Given the description of an element on the screen output the (x, y) to click on. 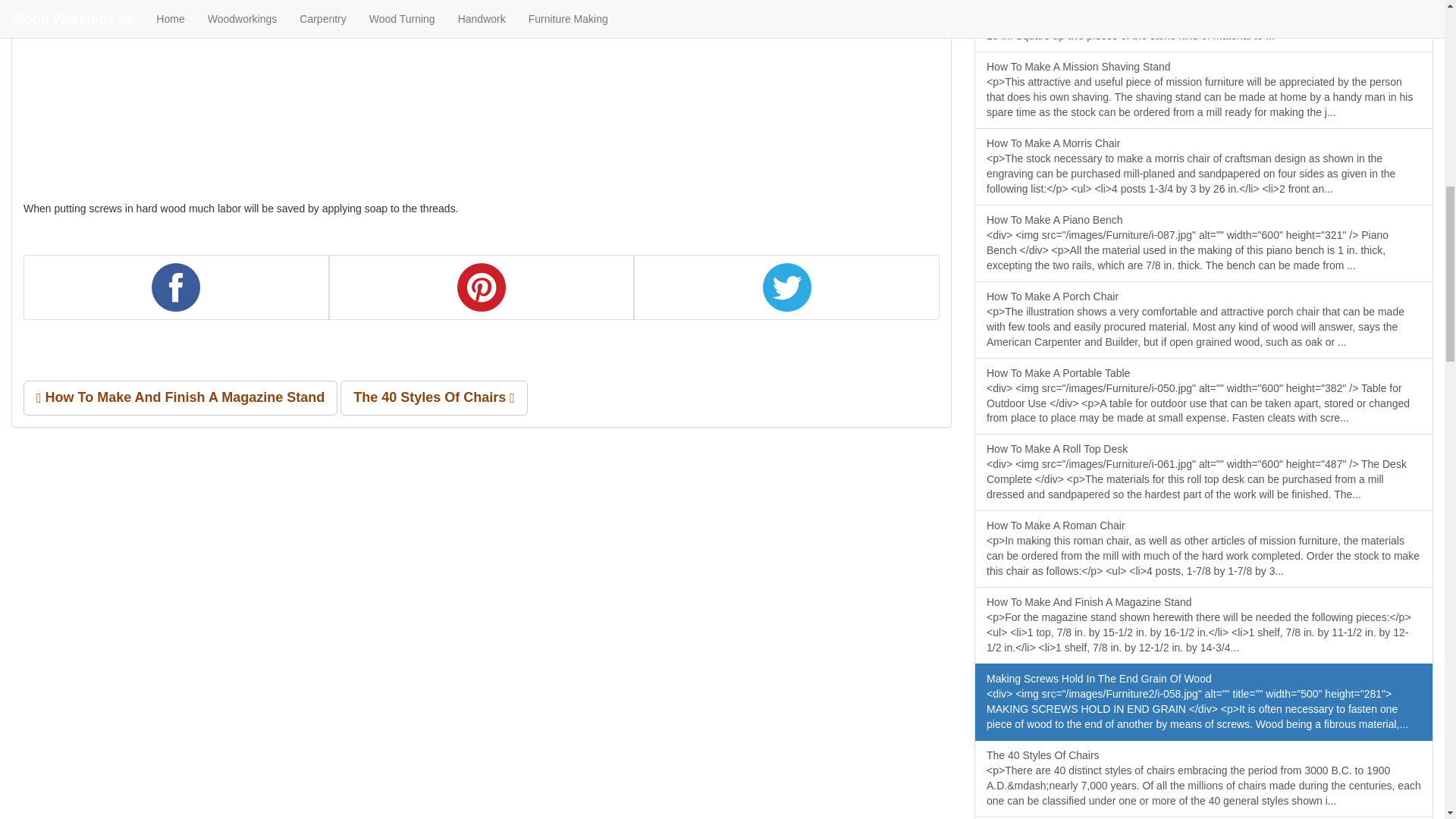
Advertisement (136, 70)
How To Make And Finish A Magazine Stand (180, 397)
The 40 Styles Of Chairs (433, 397)
